Given the description of an element on the screen output the (x, y) to click on. 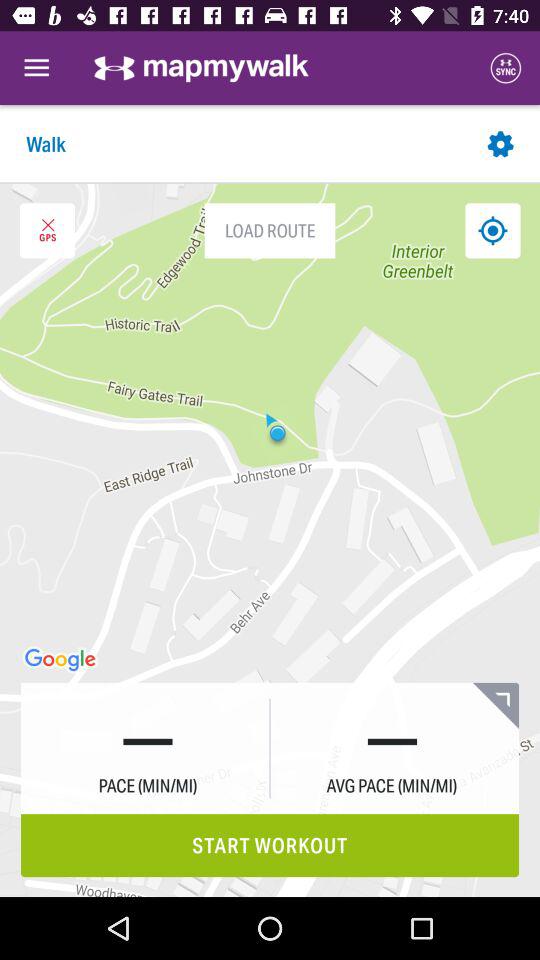
tap icon above the walk (36, 68)
